Given the description of an element on the screen output the (x, y) to click on. 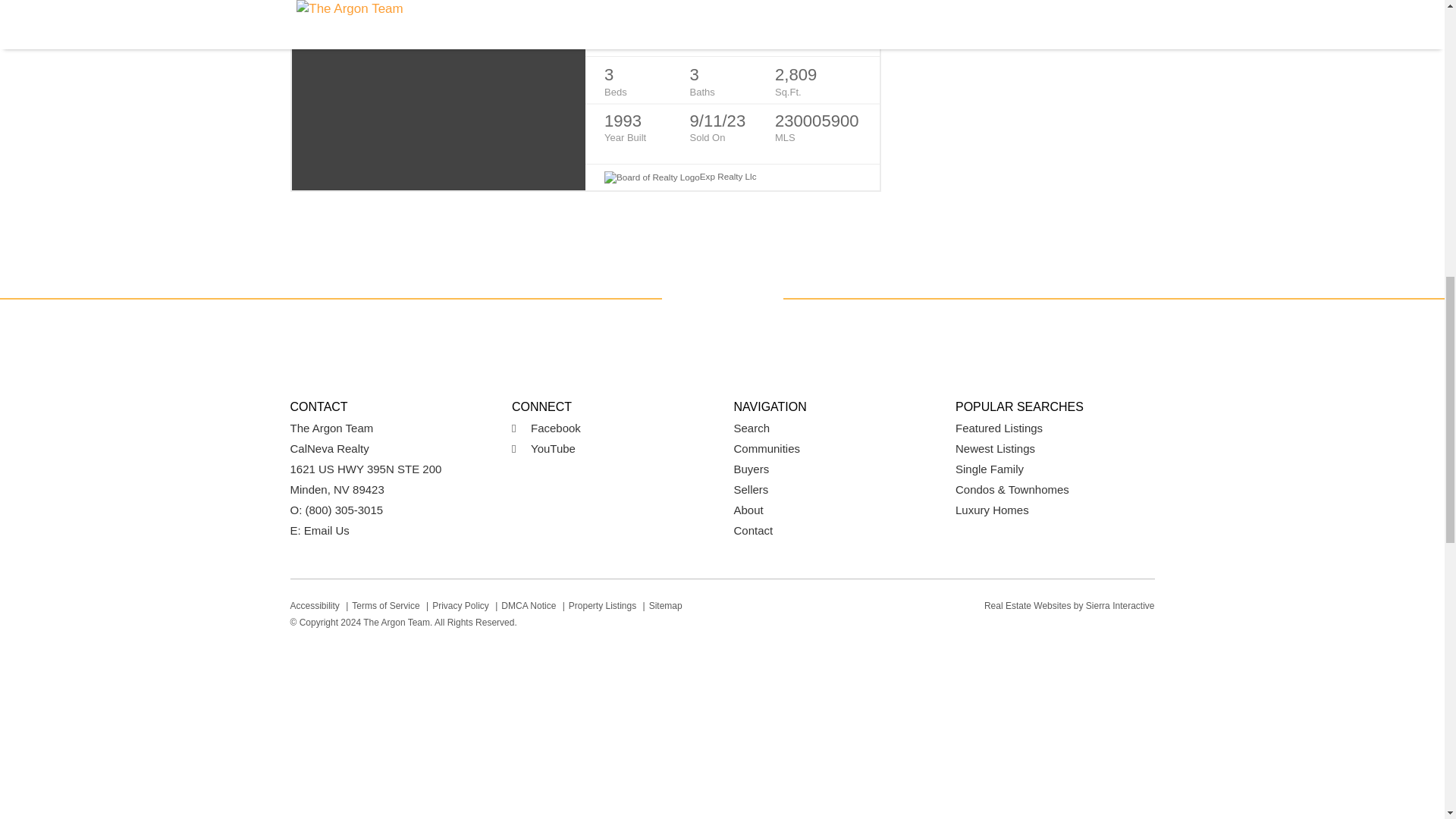
1435 Willow Creek Ln. Gardnerville,  NV 89410 (732, 33)
